Given the description of an element on the screen output the (x, y) to click on. 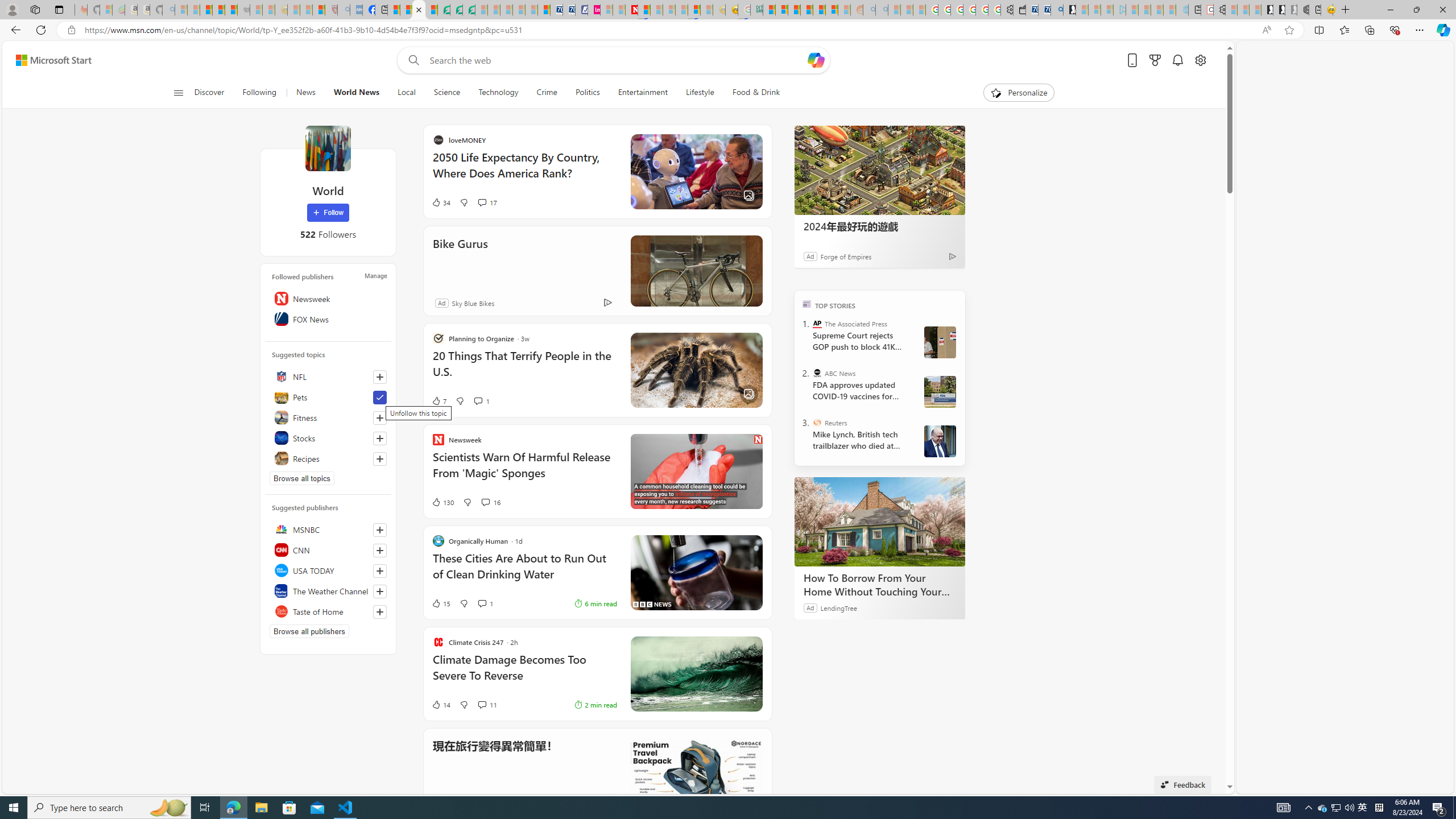
These Cities Are About to Run Out of Clean Drinking Water (633, 572)
TOP (806, 302)
Bike GurusAdSky Blue Bikes (596, 271)
MSNBC (327, 529)
